Given the description of an element on the screen output the (x, y) to click on. 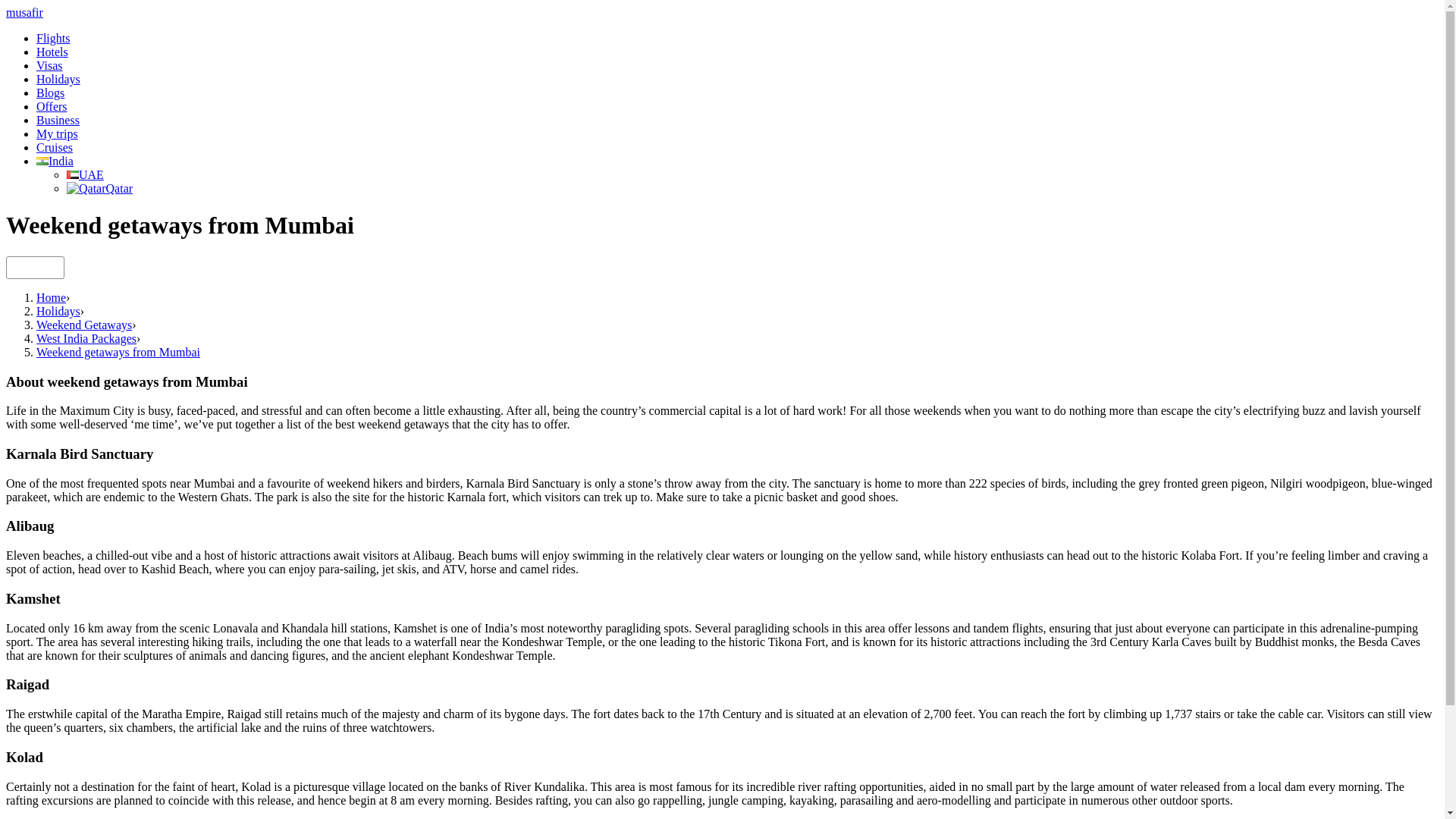
Weekend getaways from Mumbai (118, 351)
Share on LinkedIn (50, 266)
Holidays (58, 78)
Cruises (54, 146)
Offers (51, 106)
Visas (49, 65)
Share on Facebook (18, 266)
West India Packages (86, 338)
Qatar (99, 187)
Weekend Getaways (84, 324)
